Given the description of an element on the screen output the (x, y) to click on. 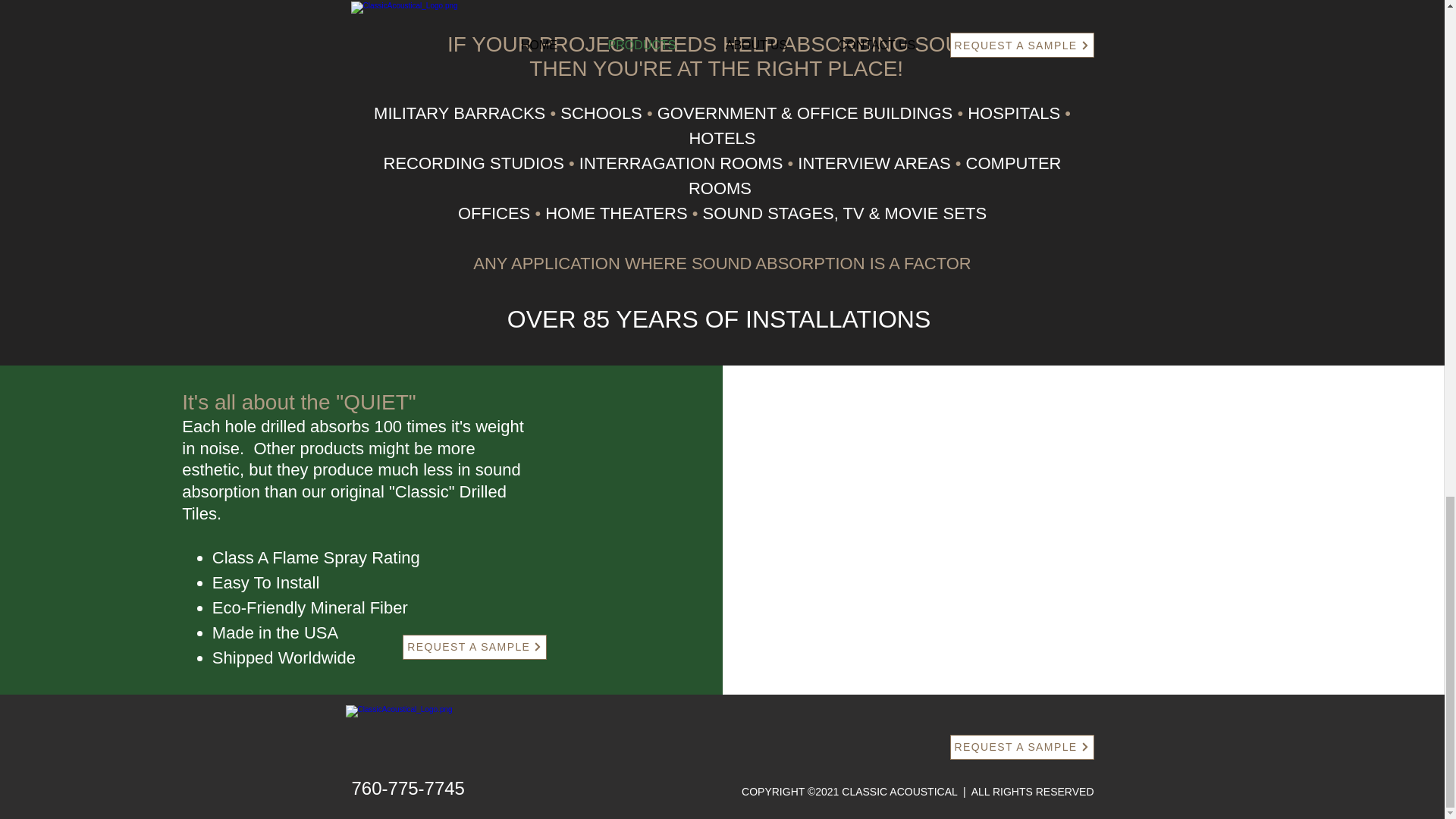
REQUEST A SAMPLE (475, 647)
REQUEST A SAMPLE (1021, 747)
